Given the description of an element on the screen output the (x, y) to click on. 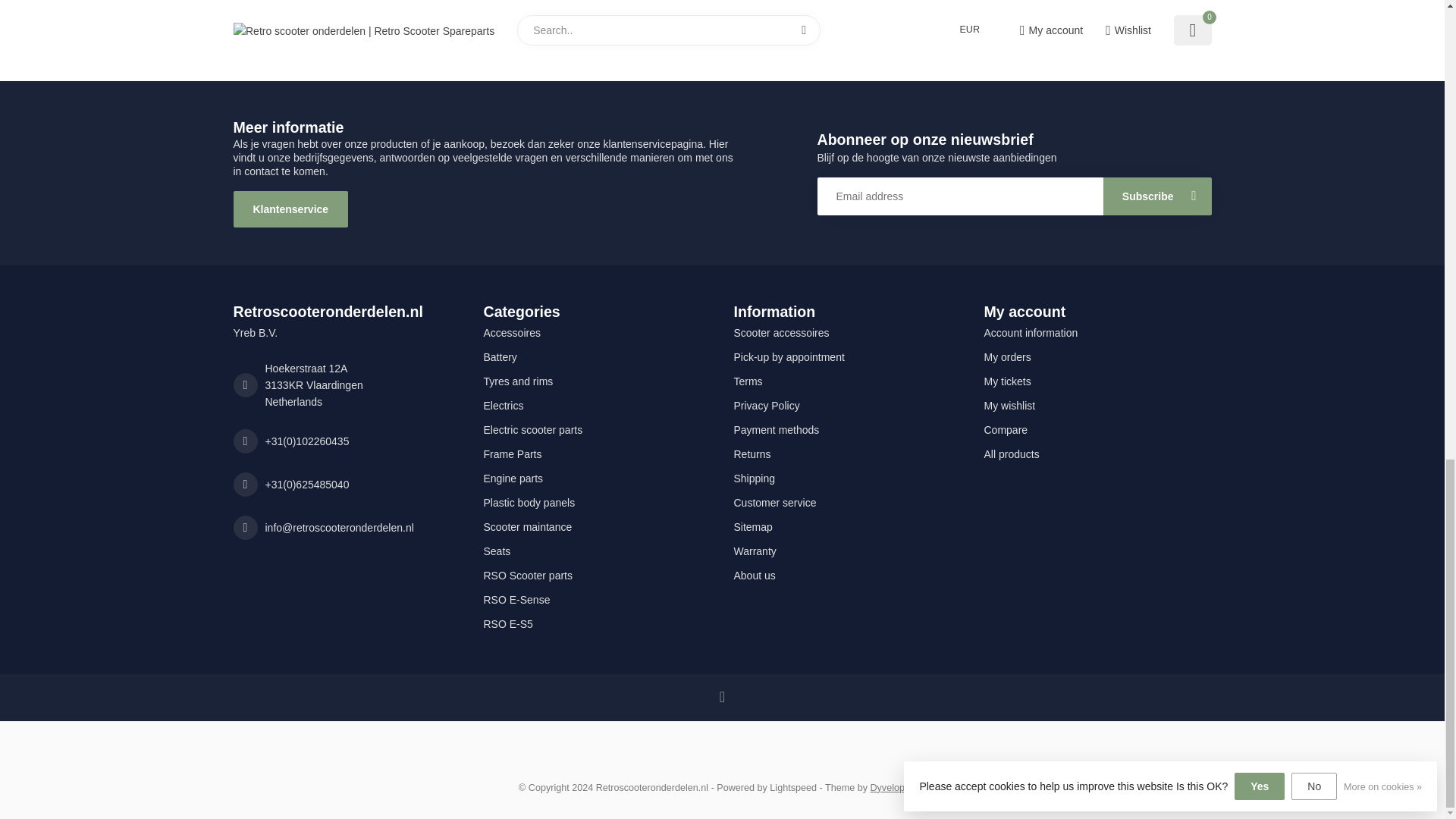
Shipping (846, 478)
Terms (846, 381)
Sitemap (846, 526)
Warranty (846, 550)
Scooter accessoires (846, 332)
Customer service  (846, 502)
My wishlist (1097, 405)
My orders (1097, 356)
Account information (1097, 332)
Privacy Policy (846, 405)
